Given the description of an element on the screen output the (x, y) to click on. 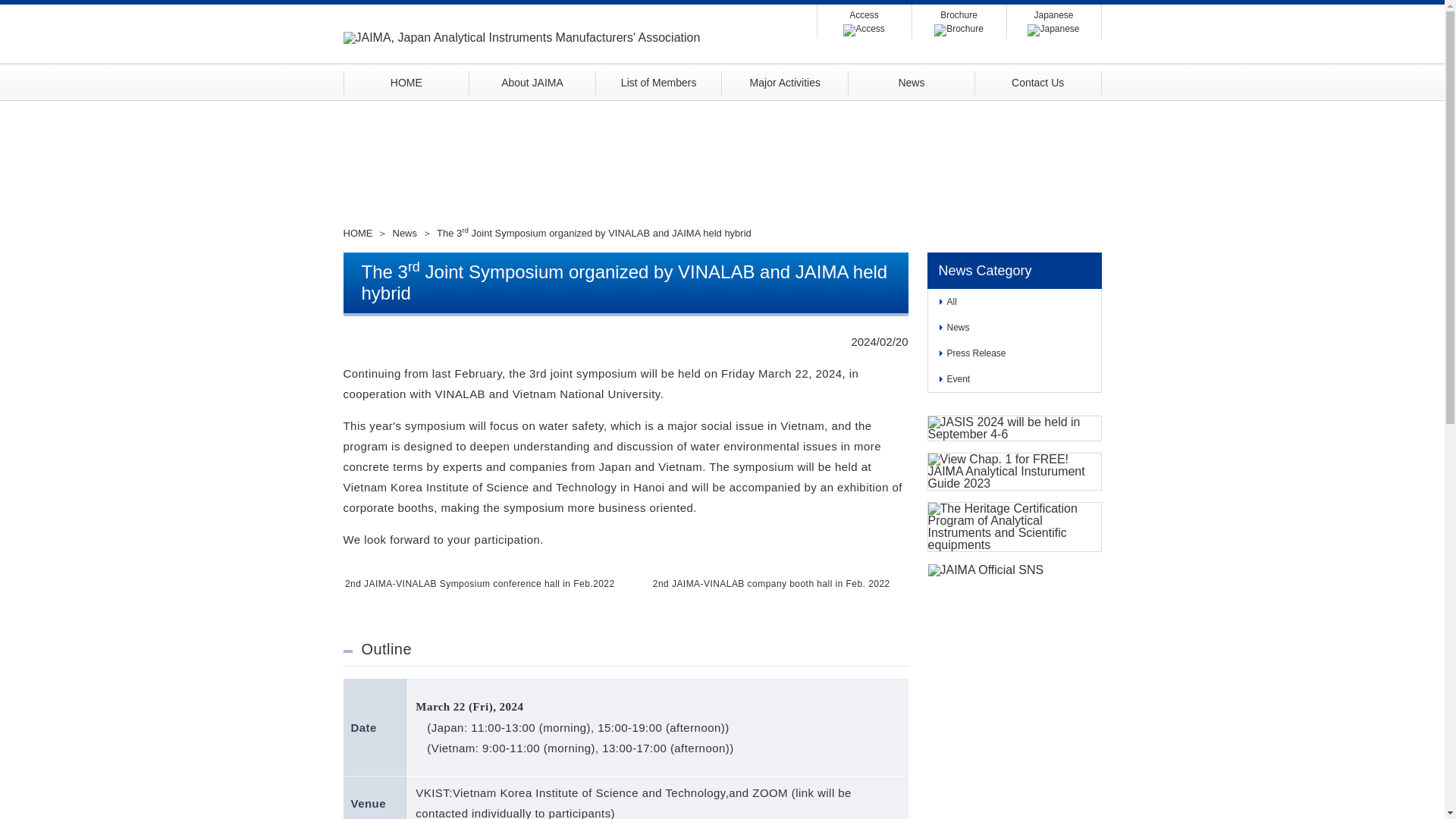
Major Activities (785, 81)
HOME (405, 81)
About JAIMA (531, 81)
Brochure (958, 21)
Japanese (1053, 21)
Contact Us (1038, 81)
News (911, 81)
Access (863, 21)
List of Members (658, 81)
HOME (359, 233)
